Given the description of an element on the screen output the (x, y) to click on. 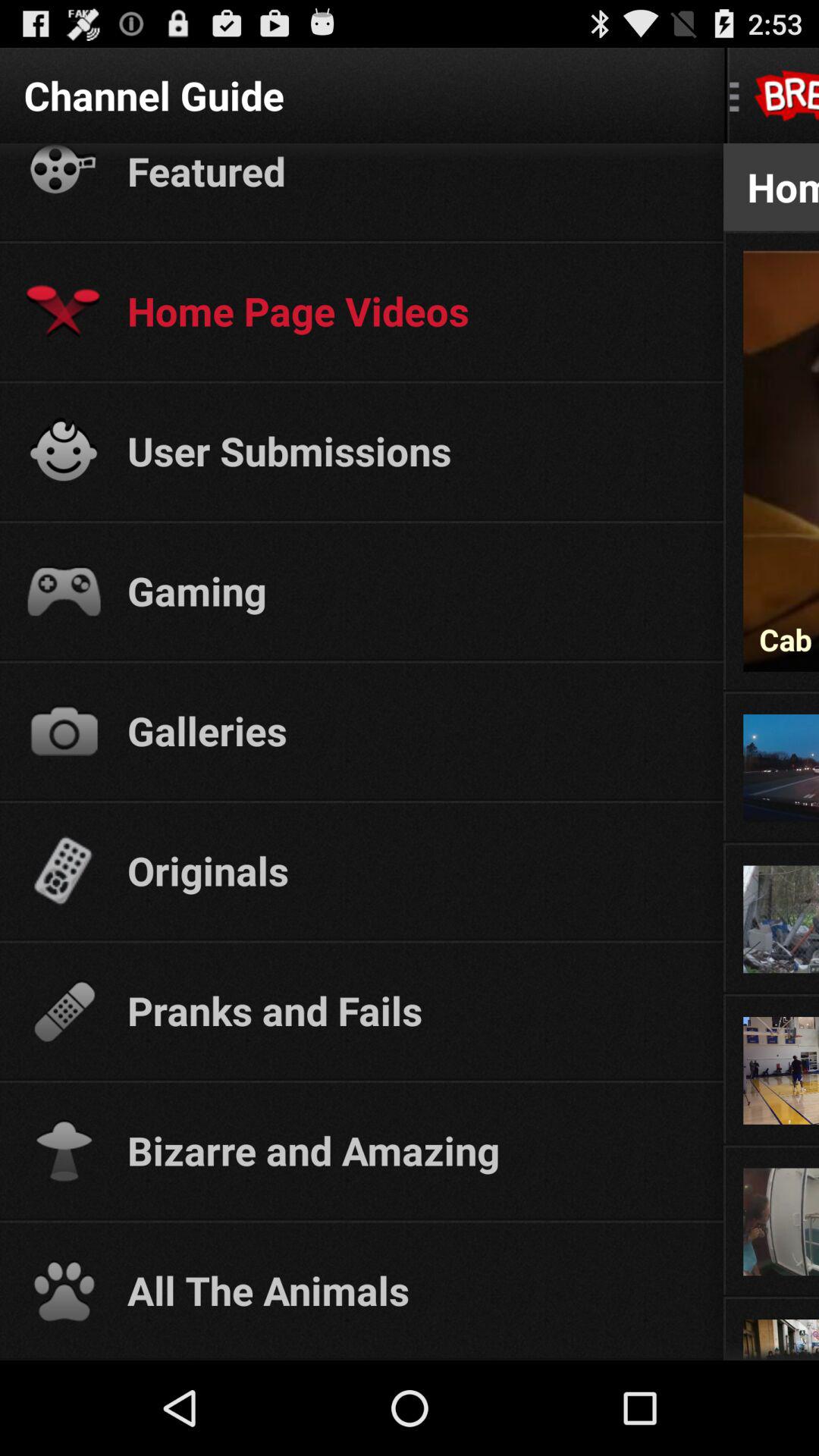
select item next to the all the animals item (771, 1295)
